Given the description of an element on the screen output the (x, y) to click on. 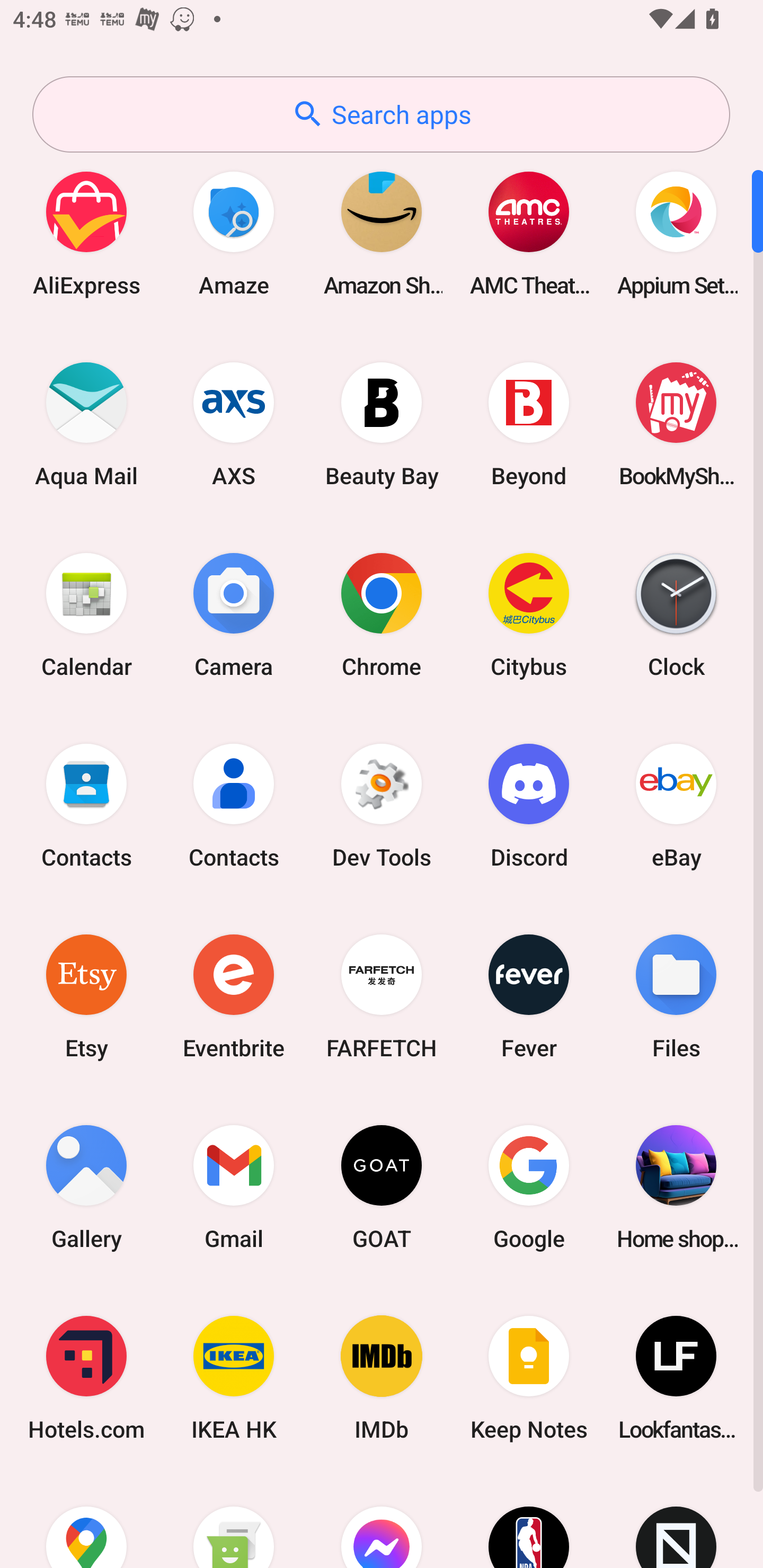
  Search apps (381, 114)
AliExpress (86, 233)
Amaze (233, 233)
Amazon Shopping (381, 233)
AMC Theatres (528, 233)
Appium Settings (676, 233)
Aqua Mail (86, 424)
AXS (233, 424)
Beauty Bay (381, 424)
Beyond (528, 424)
BookMyShow (676, 424)
Calendar (86, 614)
Camera (233, 614)
Chrome (381, 614)
Citybus (528, 614)
Clock (676, 614)
Contacts (86, 805)
Contacts (233, 805)
Dev Tools (381, 805)
Discord (528, 805)
eBay (676, 805)
Etsy (86, 996)
Eventbrite (233, 996)
FARFETCH (381, 996)
Fever (528, 996)
Files (676, 996)
Gallery (86, 1186)
Gmail (233, 1186)
GOAT (381, 1186)
Google (528, 1186)
Home shopping (676, 1186)
Hotels.com (86, 1377)
IKEA HK (233, 1377)
IMDb (381, 1377)
Keep Notes (528, 1377)
Lookfantastic (676, 1377)
Maps (86, 1520)
Messaging (233, 1520)
Messenger (381, 1520)
NBA (528, 1520)
Novelship (676, 1520)
